Given the description of an element on the screen output the (x, y) to click on. 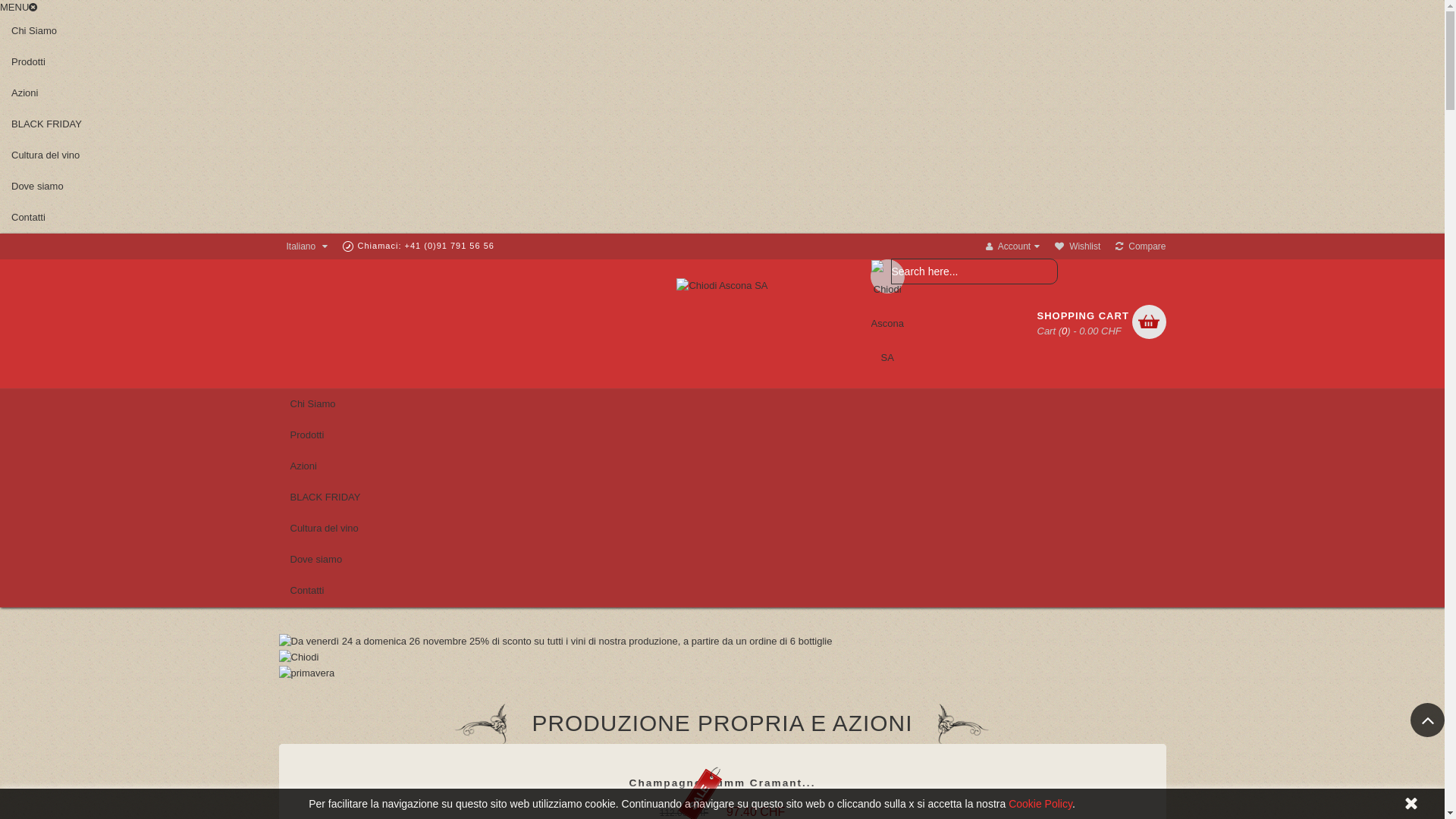
Wishlist Element type: text (1077, 246)
Compare Element type: text (1140, 246)
BLACK FRIDAY Element type: text (722, 124)
Dove siamo Element type: text (722, 186)
Prodotti Element type: text (722, 435)
Italiano Element type: text (303, 246)
Cultura del vino Element type: text (722, 528)
Cookie Policy Element type: text (1040, 803)
Account Element type: text (1012, 246)
Chiodi Element type: hover (299, 656)
Prodotti Element type: text (722, 62)
Chi Siamo Element type: text (722, 31)
Contatti Element type: text (722, 217)
Chi Siamo Element type: text (722, 404)
Dove siamo Element type: text (722, 559)
primavera Element type: hover (307, 672)
BLACK FRIDAY Element type: text (722, 497)
Azioni Element type: text (722, 93)
Cultura del vino Element type: text (722, 155)
Champagne Mumm Cramant... Element type: text (722, 782)
Azioni Element type: text (722, 466)
Chiodi Ascona SA Element type: hover (721, 286)
Contatti Element type: text (722, 590)
